Given the description of an element on the screen output the (x, y) to click on. 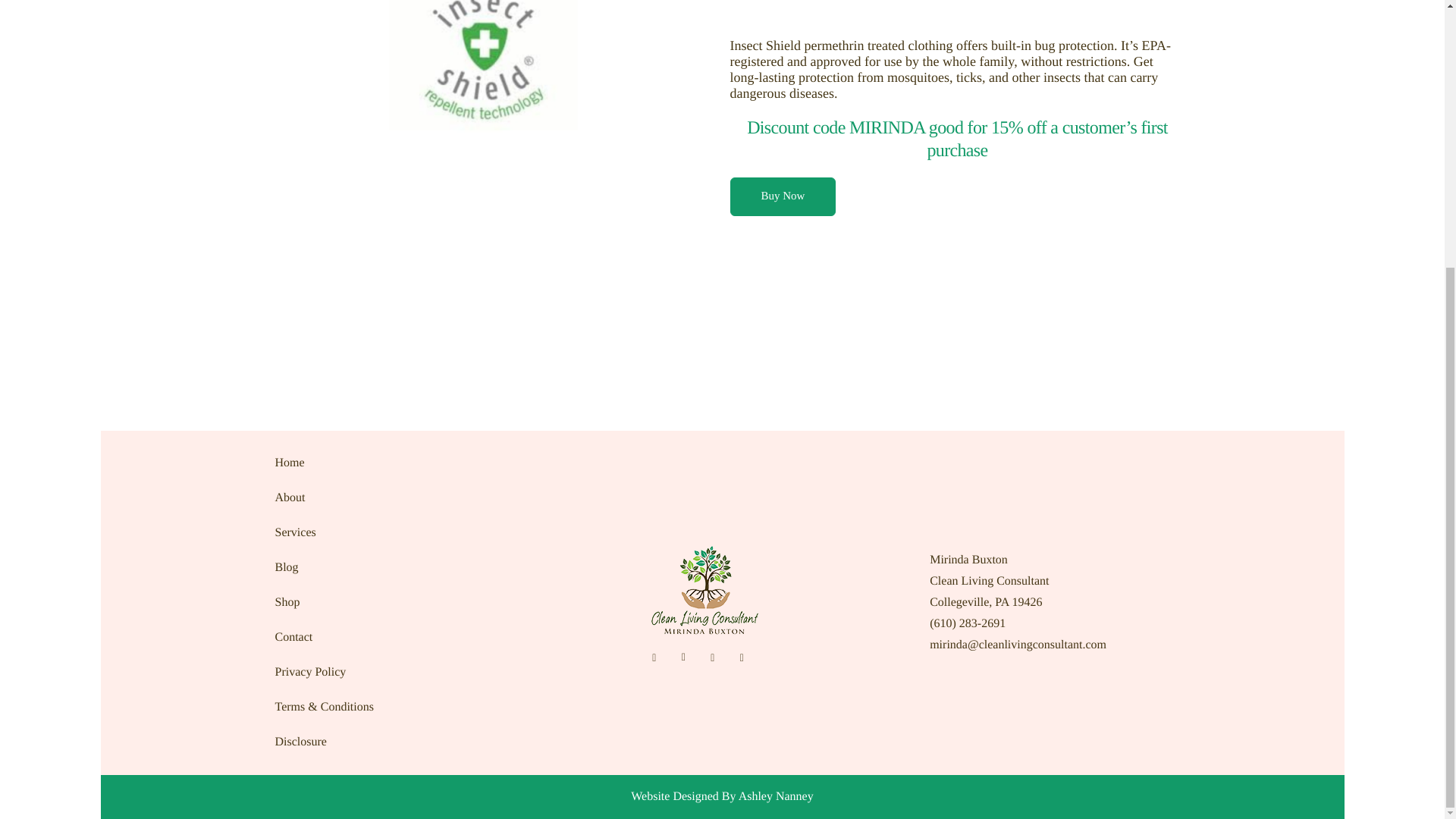
About (369, 497)
Buy Now (782, 196)
Shop (369, 602)
Home (369, 462)
Services (369, 532)
Contact (369, 637)
Privacy Policy (369, 672)
Blog (369, 567)
Disclosure (369, 742)
